Given the description of an element on the screen output the (x, y) to click on. 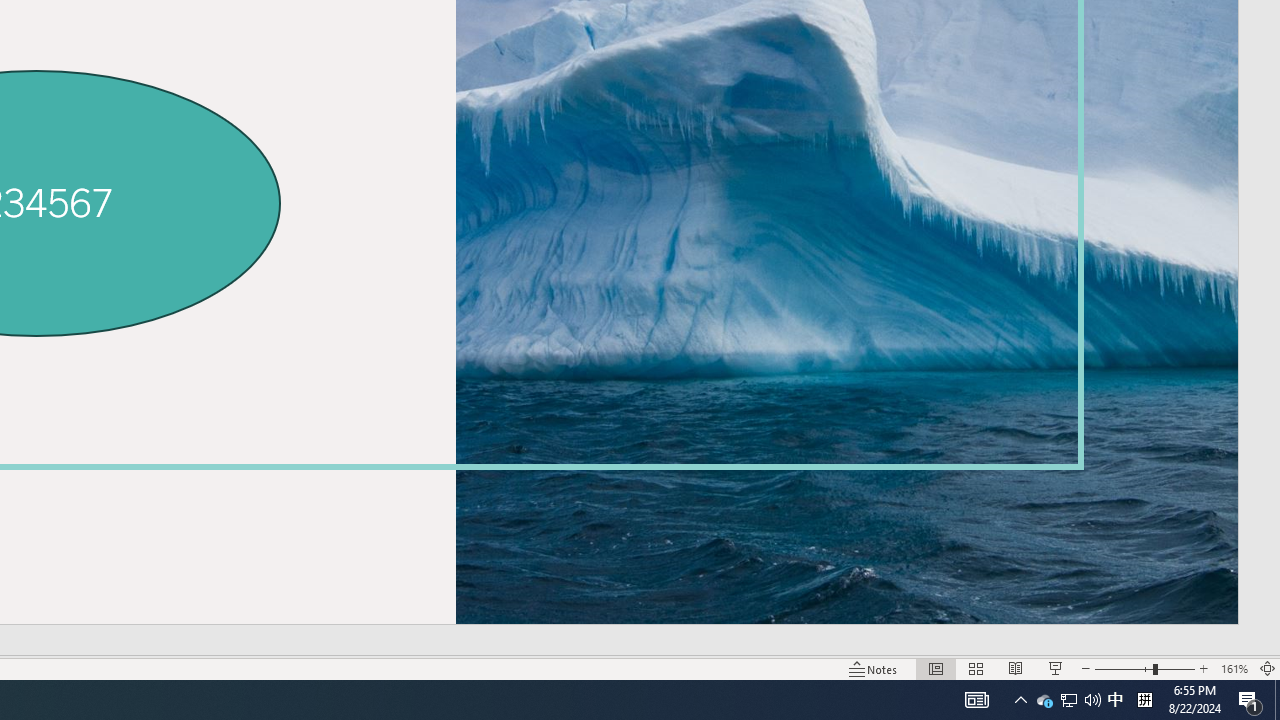
Zoom 161% (1234, 668)
